Given the description of an element on the screen output the (x, y) to click on. 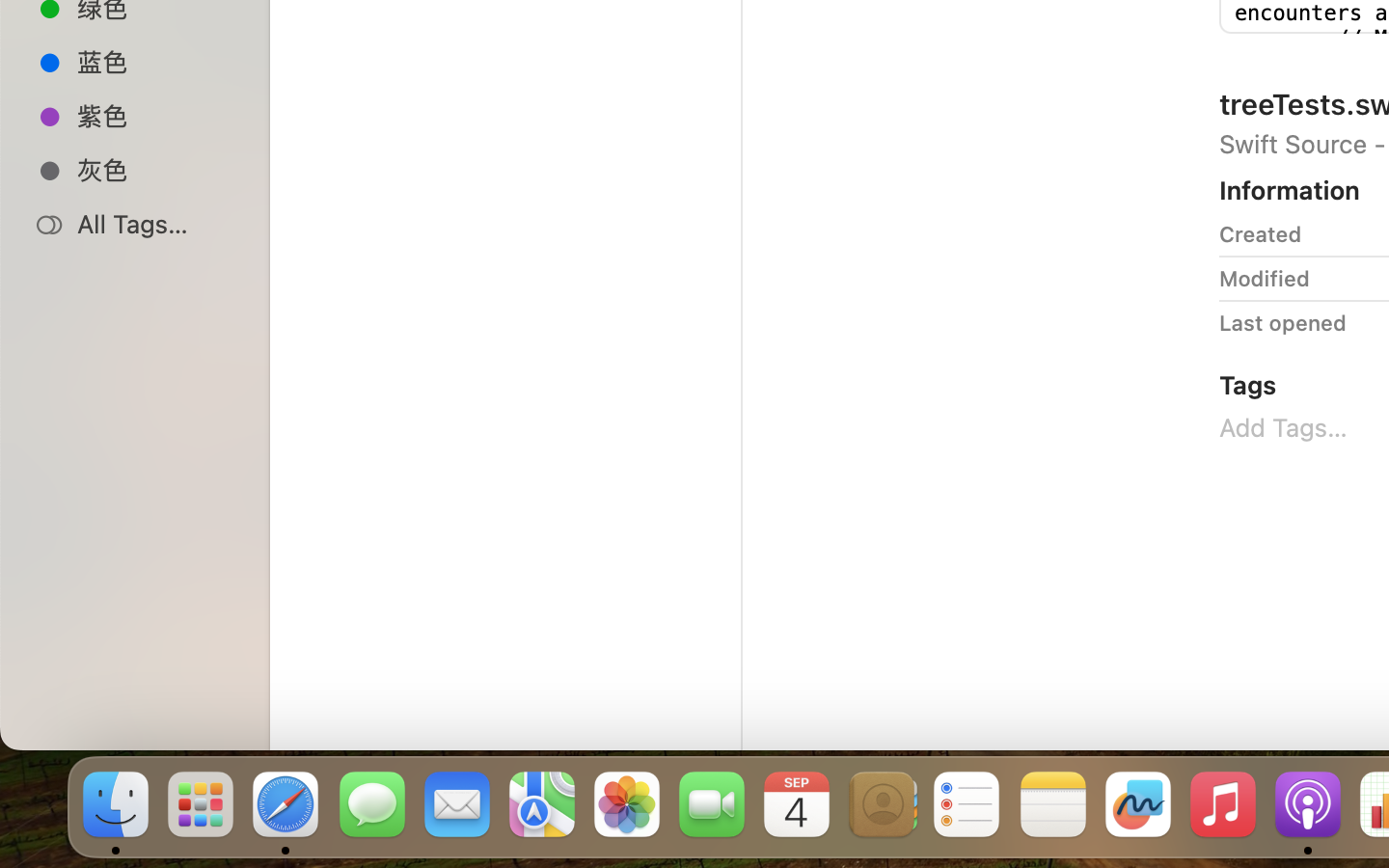
Modified Element type: AXStaticText (1264, 277)
紫色 Element type: AXStaticText (155, 115)
Last opened Element type: AXStaticText (1282, 321)
Tags Element type: AXStaticText (1247, 383)
